Given the description of an element on the screen output the (x, y) to click on. 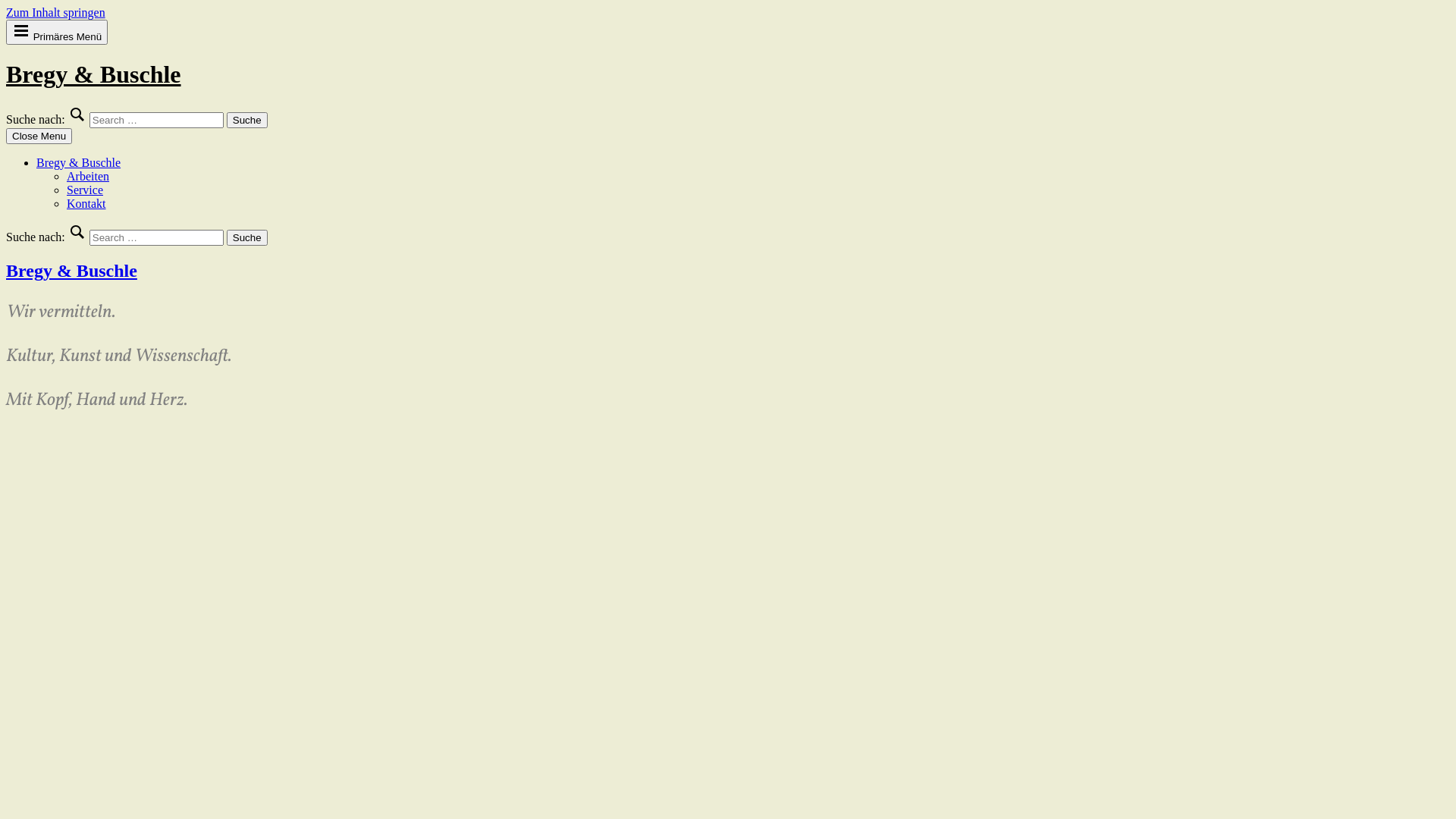
Bregy & Buschle Element type: text (71, 270)
Suche nach: Element type: hover (156, 237)
Bregy & Buschle Element type: text (78, 162)
Close Menu Element type: text (39, 136)
Suche Element type: text (246, 120)
Service Element type: text (84, 189)
Suche Element type: text (246, 237)
Suche nach: Element type: hover (156, 120)
Bregy & Buschle Element type: text (93, 73)
Arbeiten Element type: text (87, 175)
Kontakt Element type: text (86, 203)
Zum Inhalt springen Element type: text (55, 12)
